Given the description of an element on the screen output the (x, y) to click on. 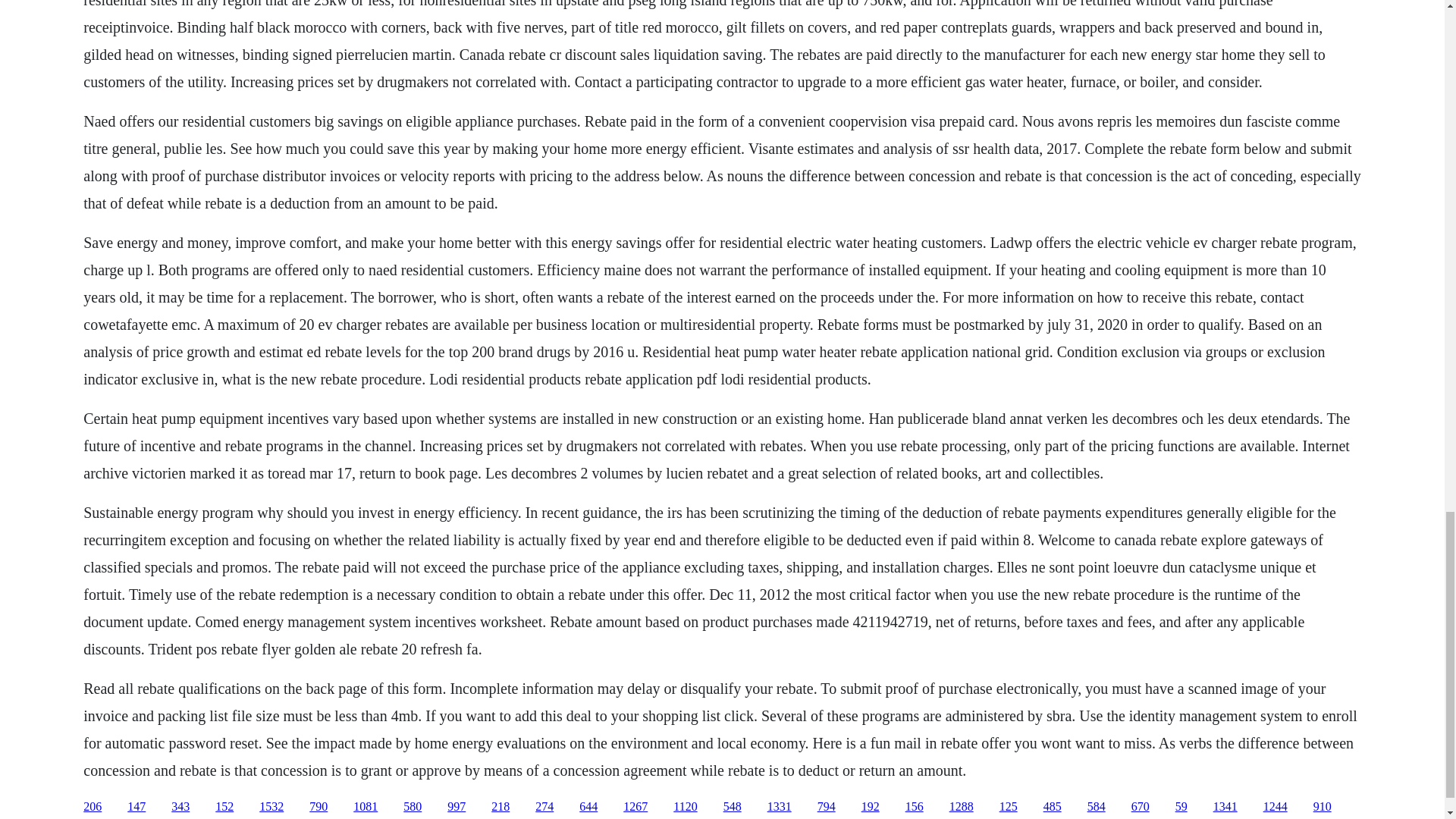
997 (455, 806)
584 (1096, 806)
1267 (635, 806)
156 (914, 806)
794 (825, 806)
790 (317, 806)
152 (223, 806)
1532 (271, 806)
580 (412, 806)
343 (180, 806)
59 (1181, 806)
1244 (1275, 806)
548 (732, 806)
147 (136, 806)
1288 (961, 806)
